Given the description of an element on the screen output the (x, y) to click on. 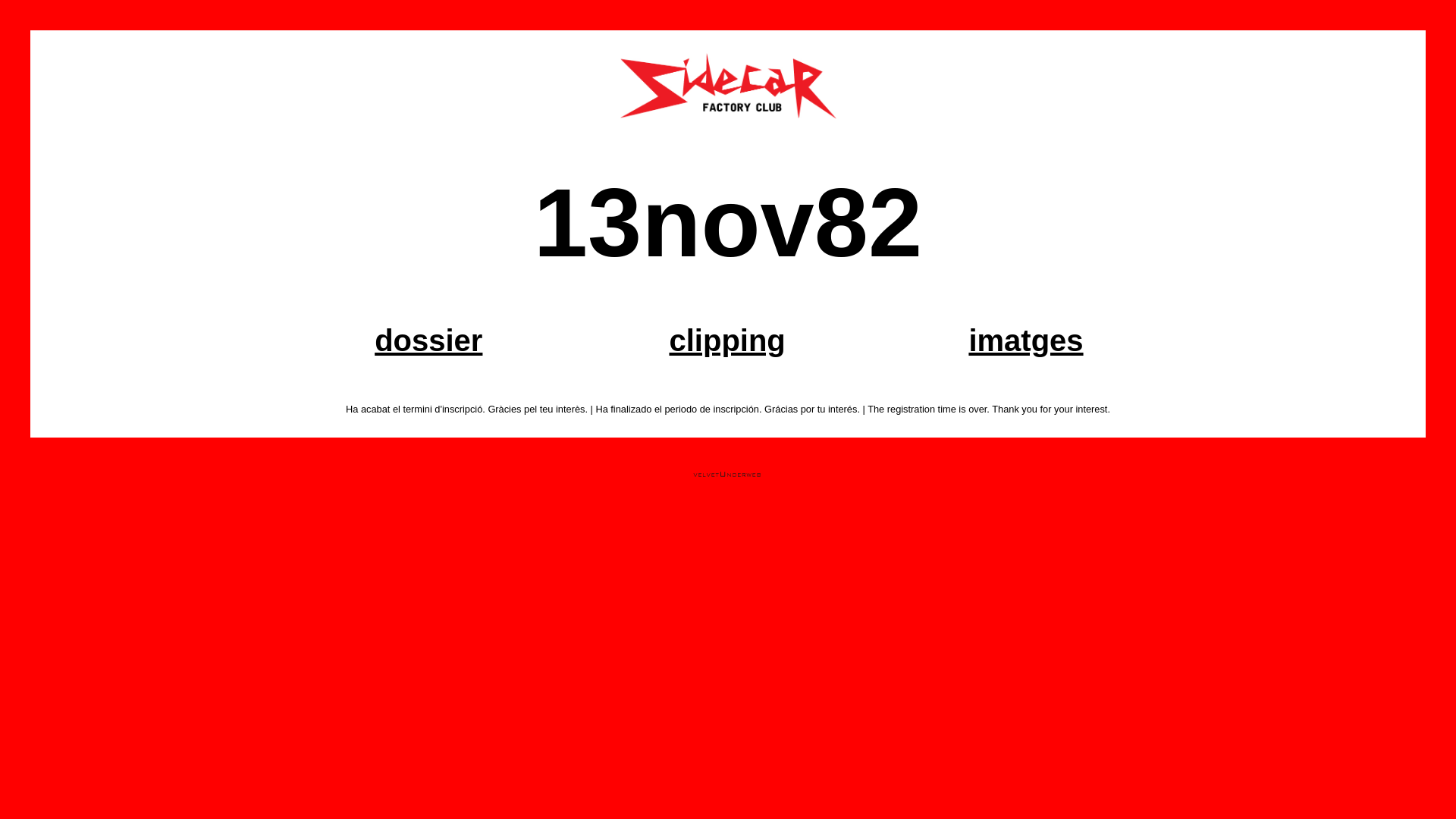
imatges Element type: text (1025, 340)
clipping Element type: text (726, 340)
dossier Element type: text (428, 340)
